Given the description of an element on the screen output the (x, y) to click on. 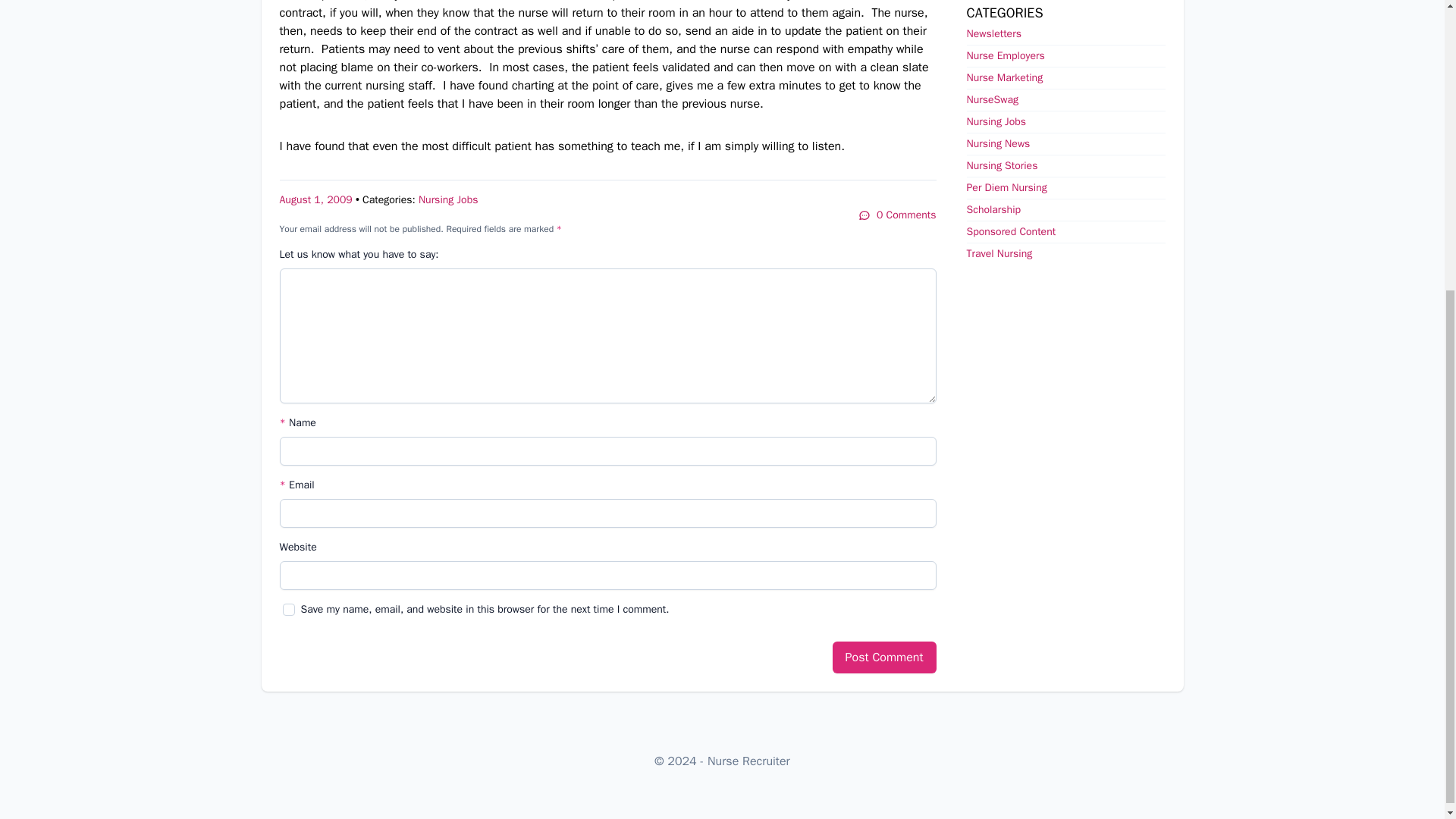
Nursing Stories (1001, 164)
Travel Nursing (999, 253)
NurseSwag (991, 99)
Nurse Employers (1004, 55)
Scholarship (993, 209)
Post Comment (884, 657)
Nursing Jobs (449, 199)
Per Diem Nursing (1006, 187)
Newsletters (993, 33)
0 Comments (897, 215)
Sponsored Content (1010, 231)
Go to comment section (897, 215)
Nurse Marketing (1004, 77)
Post Comment (884, 657)
Nursing News (997, 143)
